Given the description of an element on the screen output the (x, y) to click on. 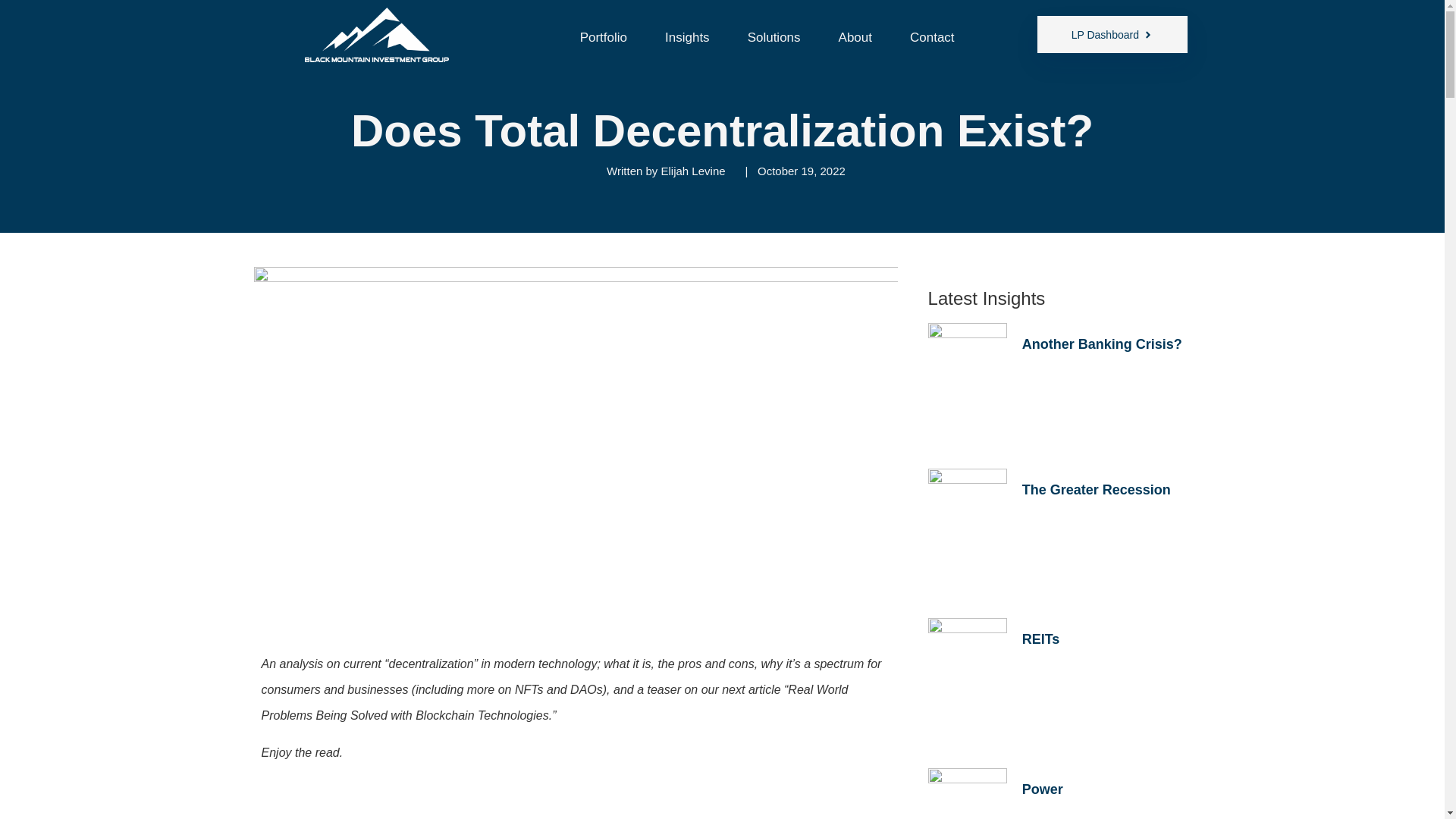
Another Banking Crisis? (1102, 344)
Insights (687, 36)
Power (1042, 789)
LP Dashboard (1112, 34)
The Greater Recession (1096, 489)
Contact (932, 36)
About (855, 36)
Solutions (774, 36)
REITs (1040, 639)
Portfolio (603, 36)
